Given the description of an element on the screen output the (x, y) to click on. 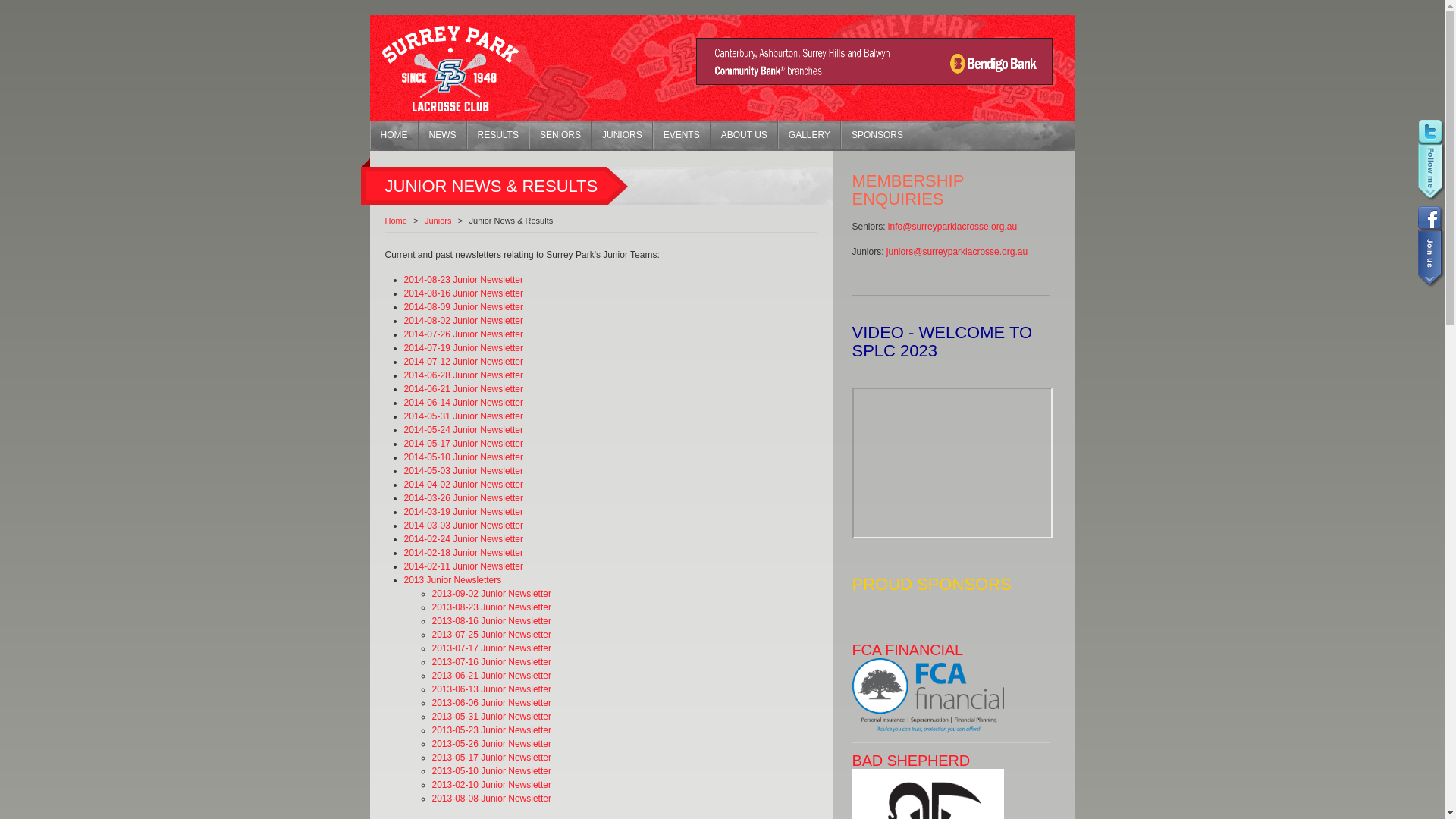
info@surreyparklacrosse.org.au Element type: text (952, 226)
2014-08-23 Junior Newsletter Element type: text (462, 279)
2013-05-23 Junior Newsletter Element type: text (491, 729)
2013 Junior Newsletters Element type: text (452, 579)
FCA Financial Element type: hover (928, 729)
2013-06-13 Junior Newsletter Element type: text (491, 689)
2014-03-03 Junior Newsletter Element type: text (462, 525)
2013-09-02 Junior Newsletter Element type: text (491, 593)
Bendigo Bank Element type: hover (873, 80)
2014-06-14 Junior Newsletter Element type: text (462, 402)
2013-06-21 Junior Newsletter Element type: text (491, 675)
2014-07-26 Junior Newsletter Element type: text (462, 334)
2014-03-19 Junior Newsletter Element type: text (462, 511)
GALLERY Element type: text (809, 134)
2013-07-16 Junior Newsletter Element type: text (491, 661)
2013-07-17 Junior Newsletter Element type: text (491, 648)
2014-08-09 Junior Newsletter Element type: text (462, 306)
RESULTS Element type: text (498, 134)
SENIORS Element type: text (560, 134)
Join Surrey Park Lacrosse Club on Facebook Element type: text (1429, 245)
2014-04-02 Junior Newsletter Element type: text (462, 484)
2014-07-19 Junior Newsletter Element type: text (462, 347)
2013-07-25 Junior Newsletter Element type: text (491, 634)
2014-05-31 Junior Newsletter Element type: text (462, 416)
ABOUT US Element type: text (744, 134)
2014-08-02 Junior Newsletter Element type: text (462, 320)
JUNIORS Element type: text (621, 134)
2013-08-23 Junior Newsletter Element type: text (491, 607)
HOME Element type: text (394, 134)
2014-05-24 Junior Newsletter Element type: text (462, 429)
2014-05-17 Junior Newsletter Element type: text (462, 443)
2014-06-21 Junior Newsletter Element type: text (462, 388)
2013-08-08 Junior Newsletter Element type: text (491, 798)
Follow Surrey Park Lacrosse Club on twitter Element type: text (1429, 161)
2013-06-06 Junior Newsletter Element type: text (491, 702)
2014-02-18 Junior Newsletter Element type: text (462, 552)
2014-02-11 Junior Newsletter Element type: text (462, 566)
2014-05-10 Junior Newsletter Element type: text (462, 456)
2013-05-17 Junior Newsletter Element type: text (491, 757)
EVENTS Element type: text (681, 134)
juniors@surreyparklacrosse.org.au Element type: text (956, 251)
2014-02-24 Junior Newsletter Element type: text (462, 538)
2014-08-16 Junior Newsletter Element type: text (462, 293)
2014-07-12 Junior Newsletter Element type: text (462, 361)
2014-03-26 Junior Newsletter Element type: text (462, 497)
2014-06-28 Junior Newsletter Element type: text (462, 375)
2014-05-03 Junior Newsletter Element type: text (462, 470)
Home Element type: text (396, 220)
2013-05-26 Junior Newsletter Element type: text (491, 743)
2013-02-10 Junior Newsletter Element type: text (491, 784)
SPONSORS Element type: text (876, 134)
2013-08-16 Junior Newsletter Element type: text (491, 620)
2013-05-10 Junior Newsletter Element type: text (491, 770)
Juniors Element type: text (437, 220)
NEWS Element type: text (442, 134)
2013-05-31 Junior Newsletter Element type: text (491, 716)
